Given the description of an element on the screen output the (x, y) to click on. 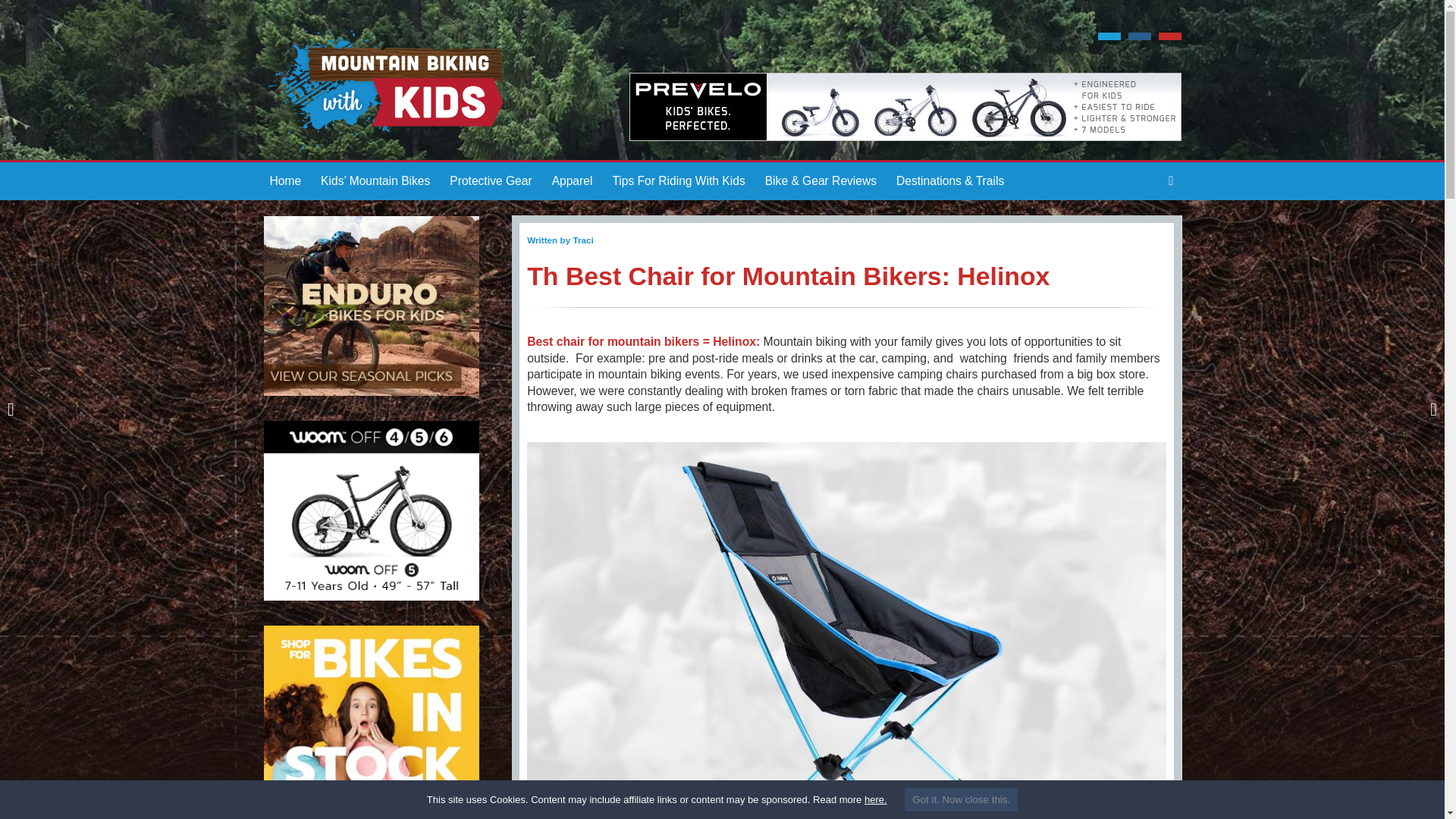
Got it. Now close this. (960, 799)
here. (875, 799)
Permanent Link: Th Best Chair for Mountain Bikers: Helinox (788, 275)
